Given the description of an element on the screen output the (x, y) to click on. 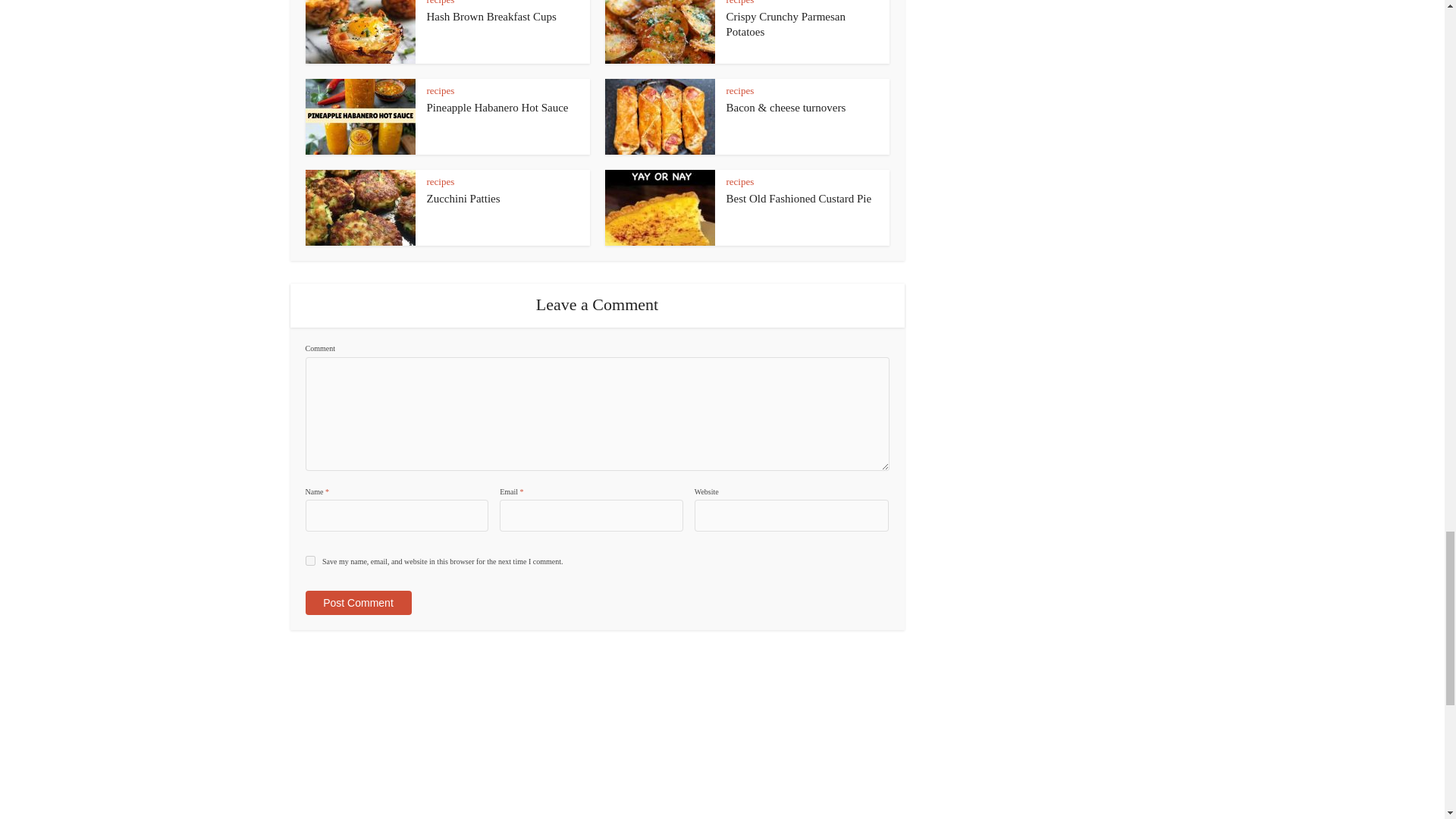
Best Old Fashioned Custard Pie (799, 198)
Post Comment (357, 602)
Hash Brown Breakfast Cups (491, 16)
recipes (440, 2)
Crispy Crunchy Parmesan Potatoes (785, 23)
recipes (440, 181)
yes (309, 560)
recipes (740, 2)
Hash Brown Breakfast Cups (491, 16)
Zucchini Patties (462, 198)
Zucchini Patties (462, 198)
recipes (740, 181)
Pineapple Habanero Hot Sauce (496, 107)
recipes (440, 90)
recipes (740, 90)
